Given the description of an element on the screen output the (x, y) to click on. 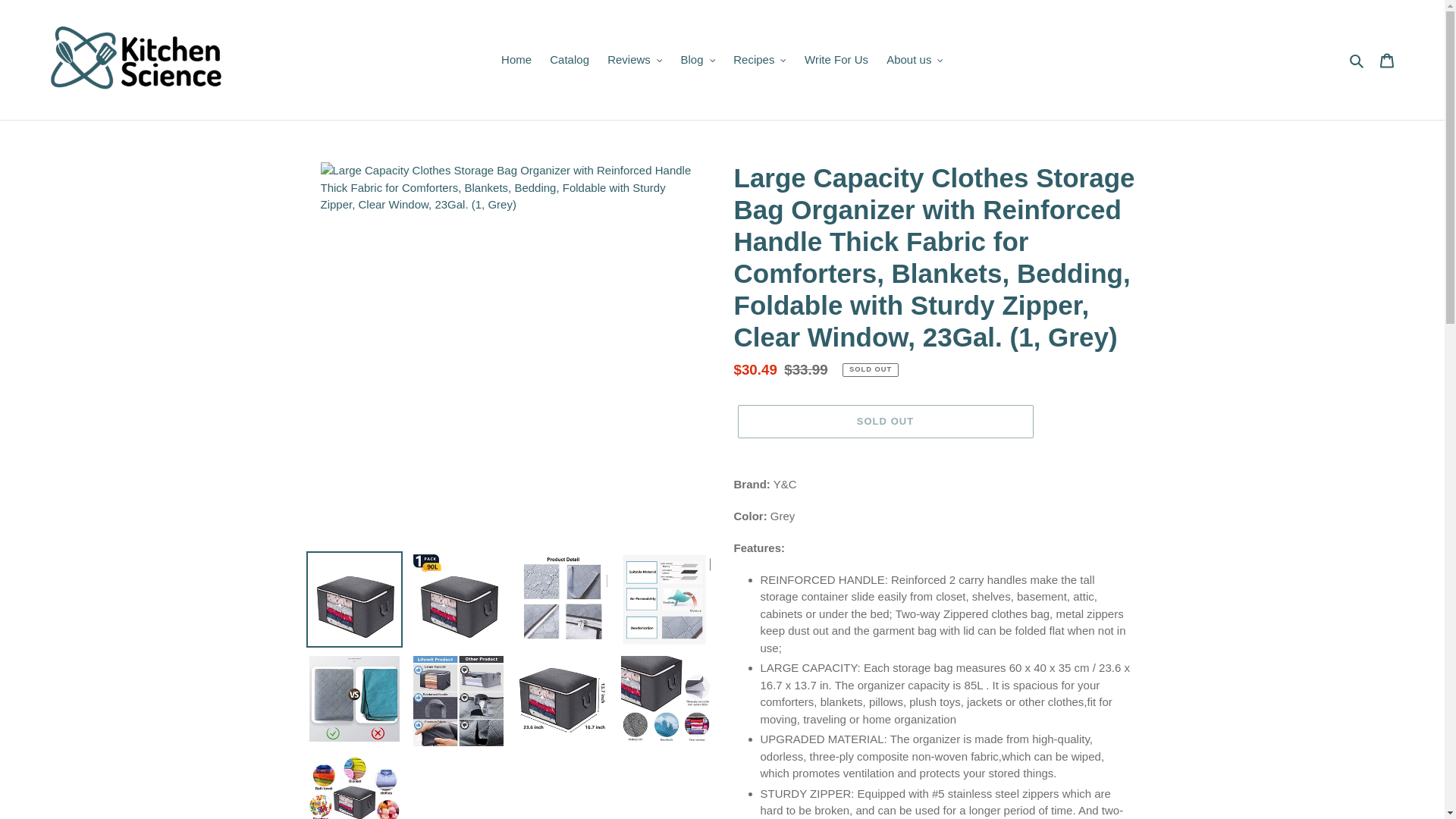
Recipes (759, 60)
Reviews (634, 60)
Catalog (568, 60)
About us (914, 60)
Blog (697, 60)
Home (515, 60)
Search (1357, 59)
Write For Us (836, 60)
